Given the description of an element on the screen output the (x, y) to click on. 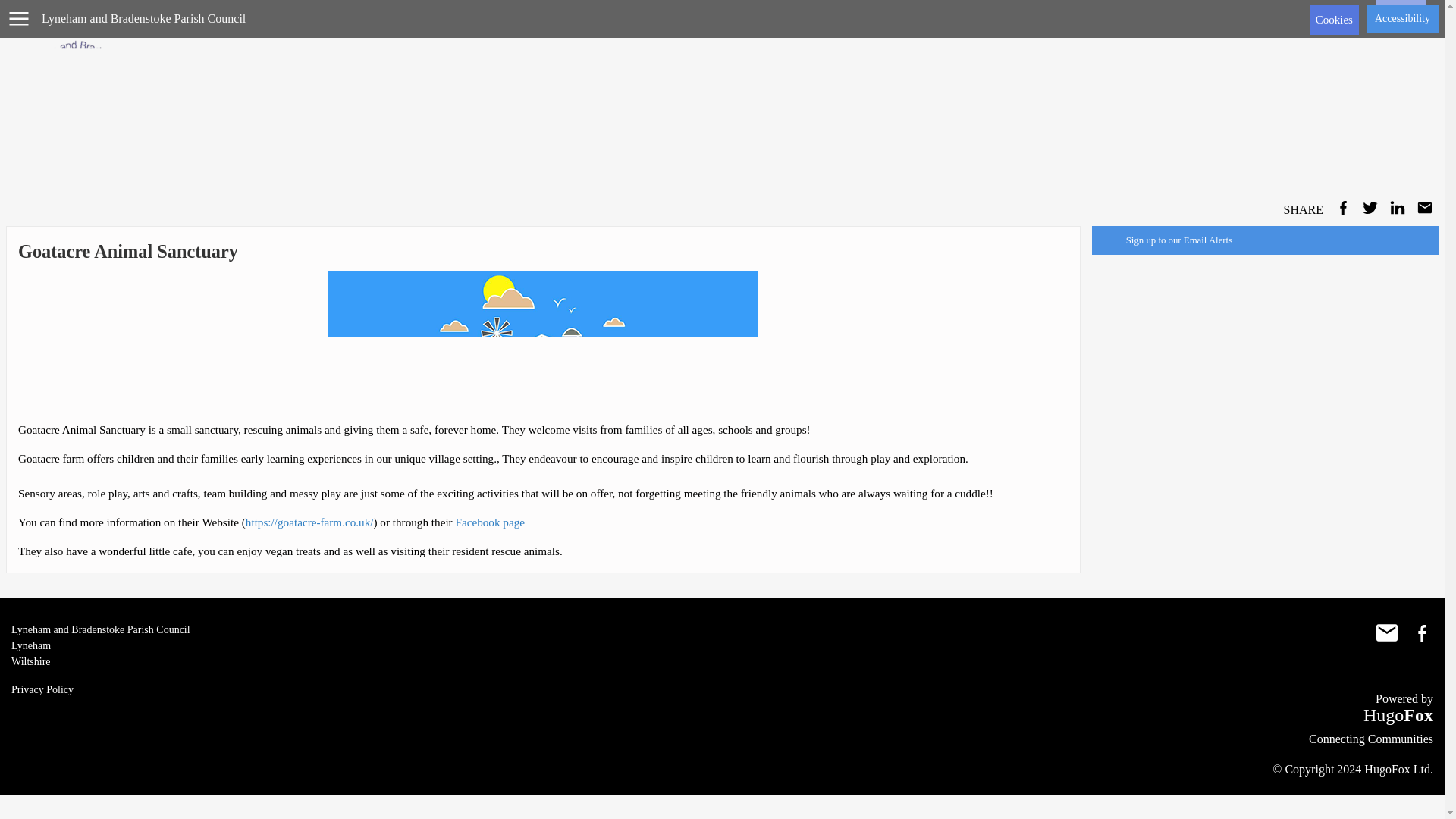
Cookies (1400, 15)
